Given the description of an element on the screen output the (x, y) to click on. 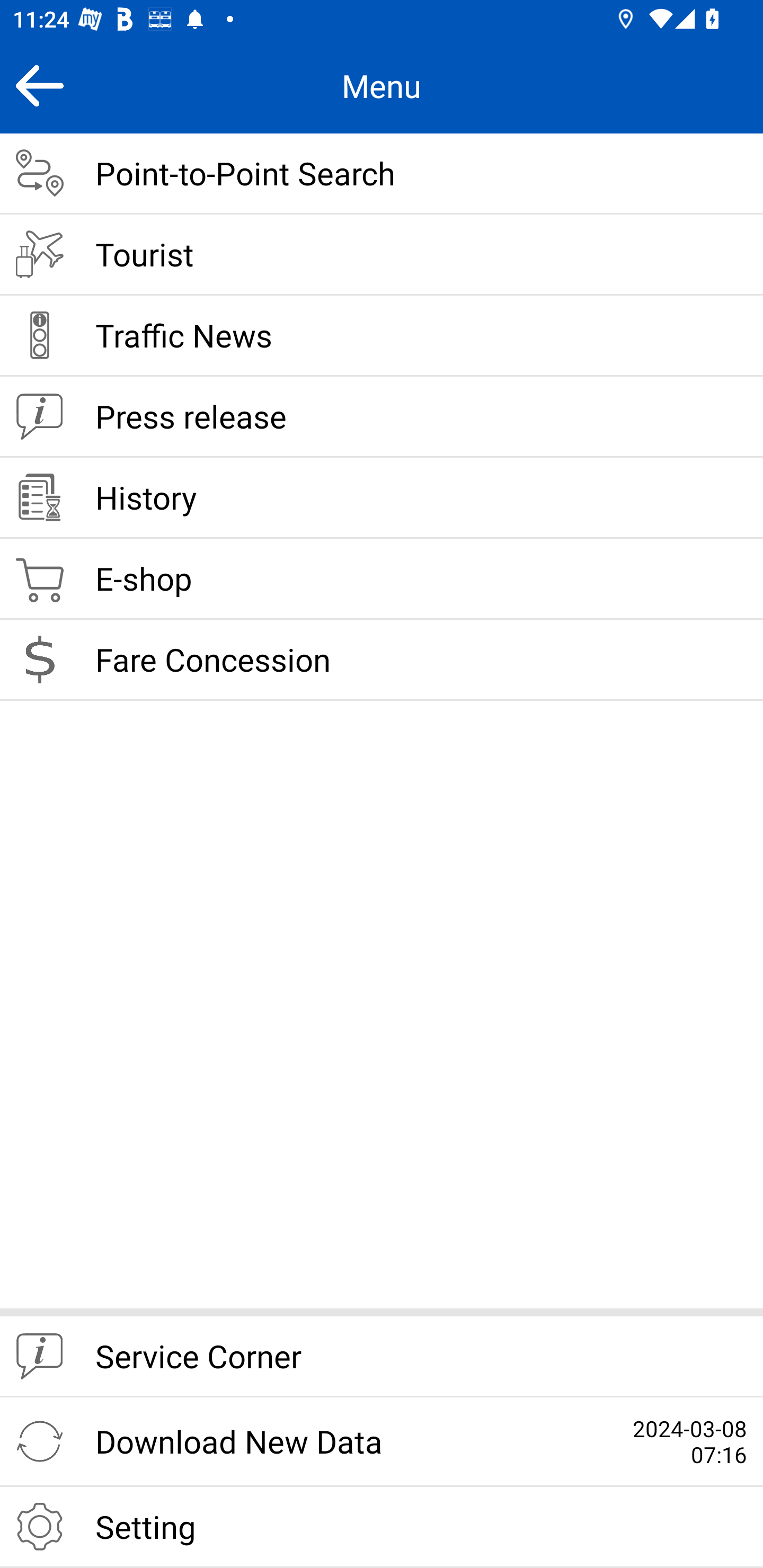
Back (39, 85)
Point-to-Point Search (381, 173)
Tourist (381, 255)
Traffic News (381, 336)
Press release (381, 416)
History (381, 498)
E-shop (381, 579)
Fare Concession (381, 659)
Service Corner (381, 1357)
Download New Data 2024-03-08
07:16 (381, 1441)
Setting (381, 1527)
